Given the description of an element on the screen output the (x, y) to click on. 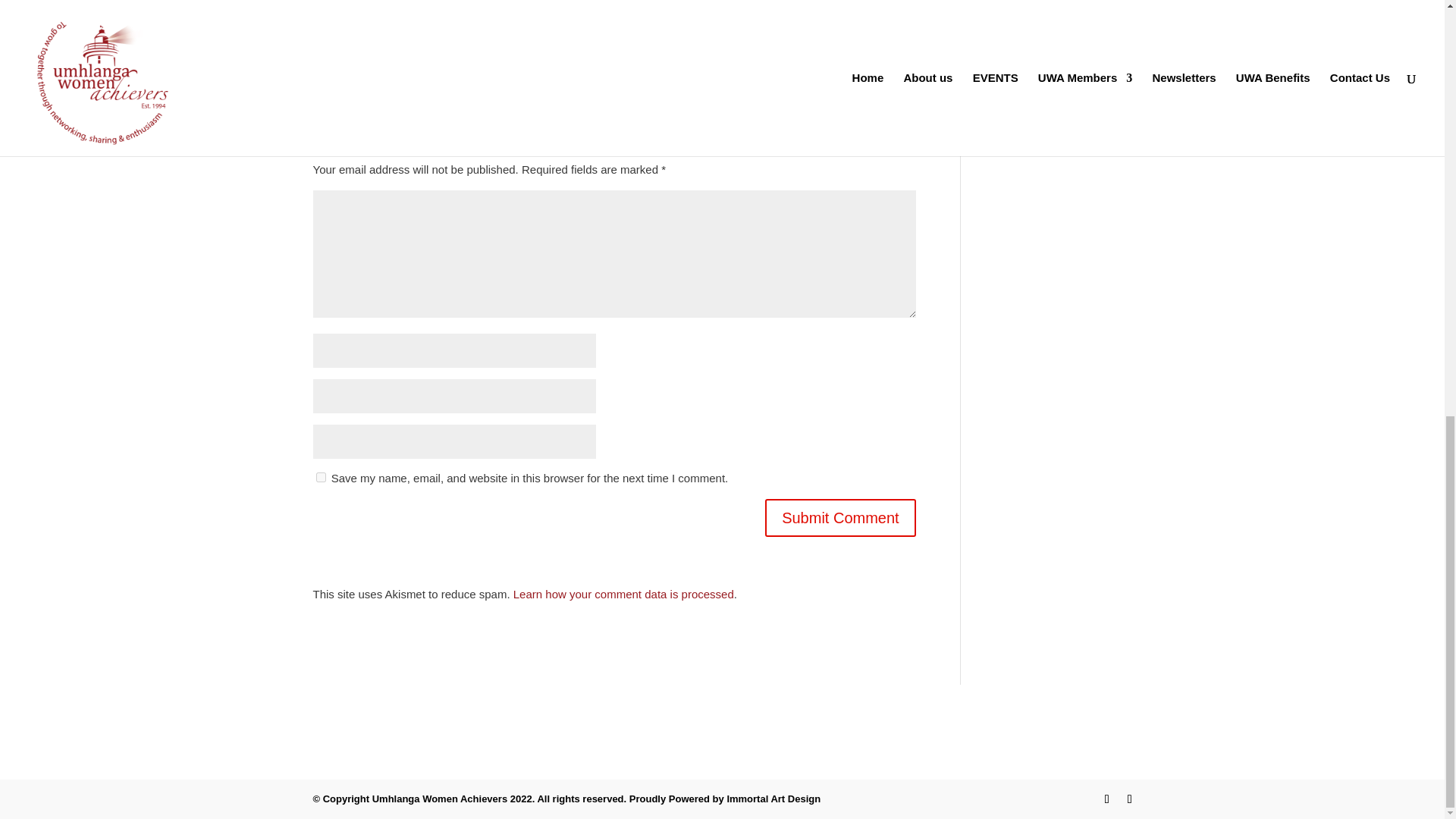
Submit Comment (840, 517)
Submit Comment (840, 517)
yes (319, 477)
Learn how your comment data is processed (623, 594)
